Given the description of an element on the screen output the (x, y) to click on. 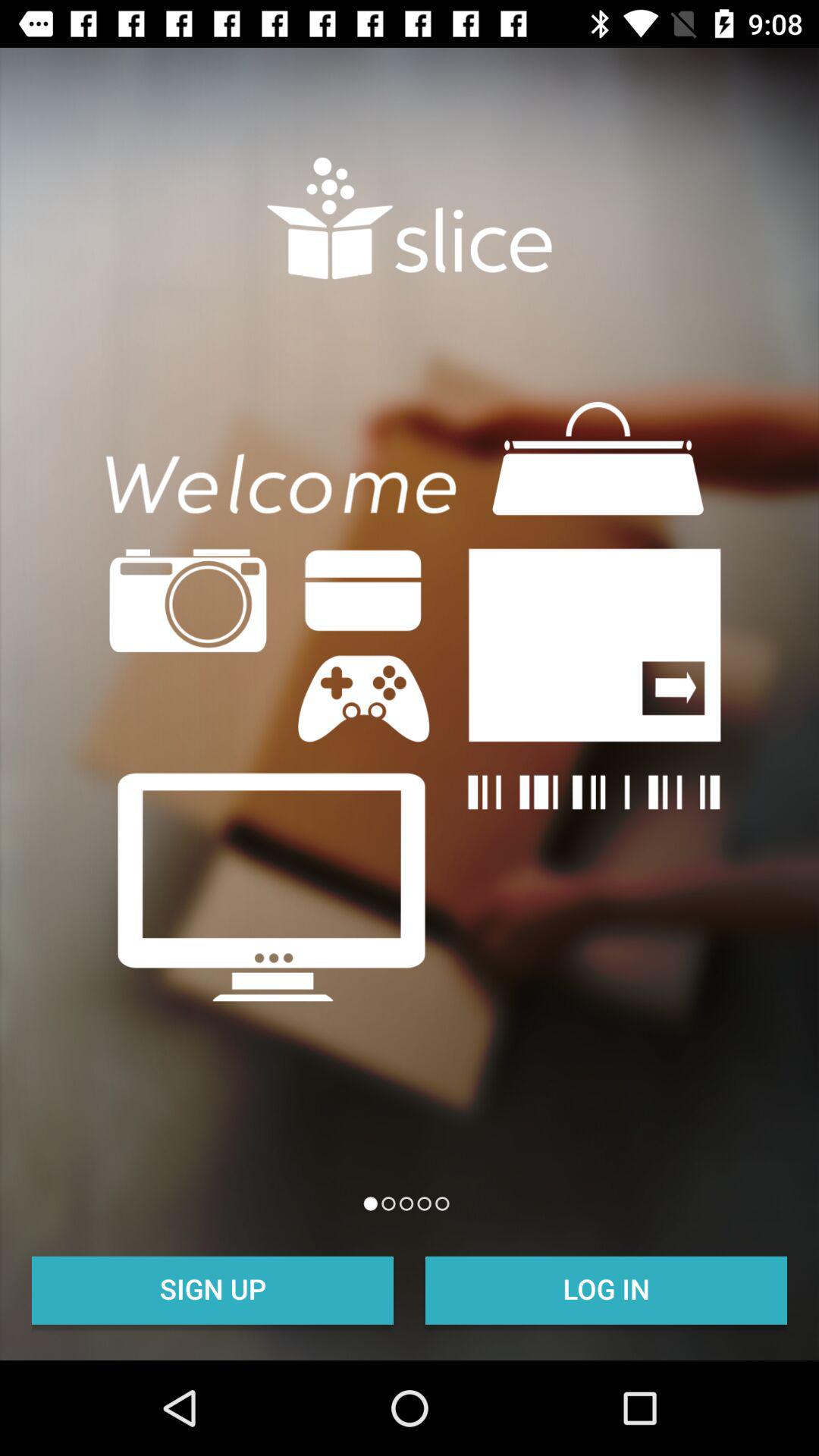
choose the item next to sign up (606, 1288)
